Given the description of an element on the screen output the (x, y) to click on. 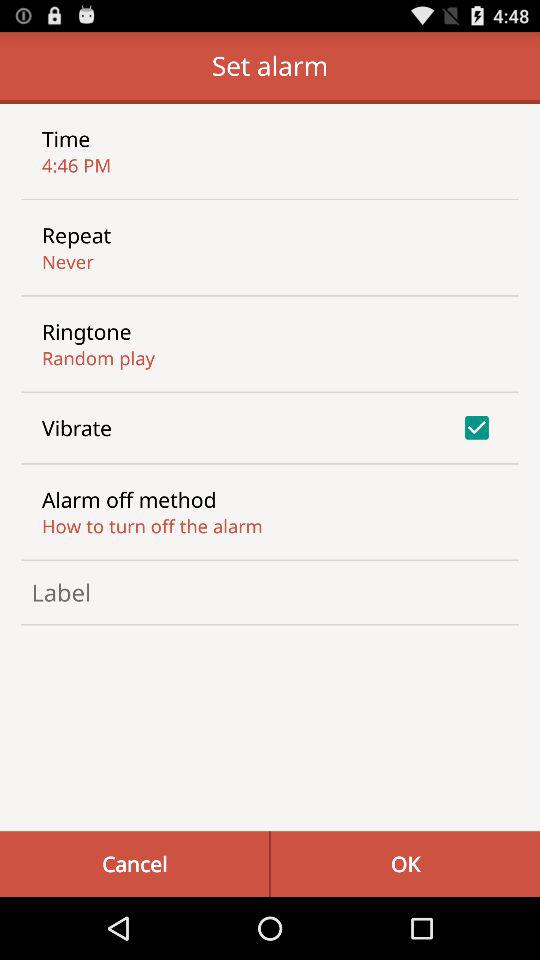
choose app above repeat (76, 164)
